Given the description of an element on the screen output the (x, y) to click on. 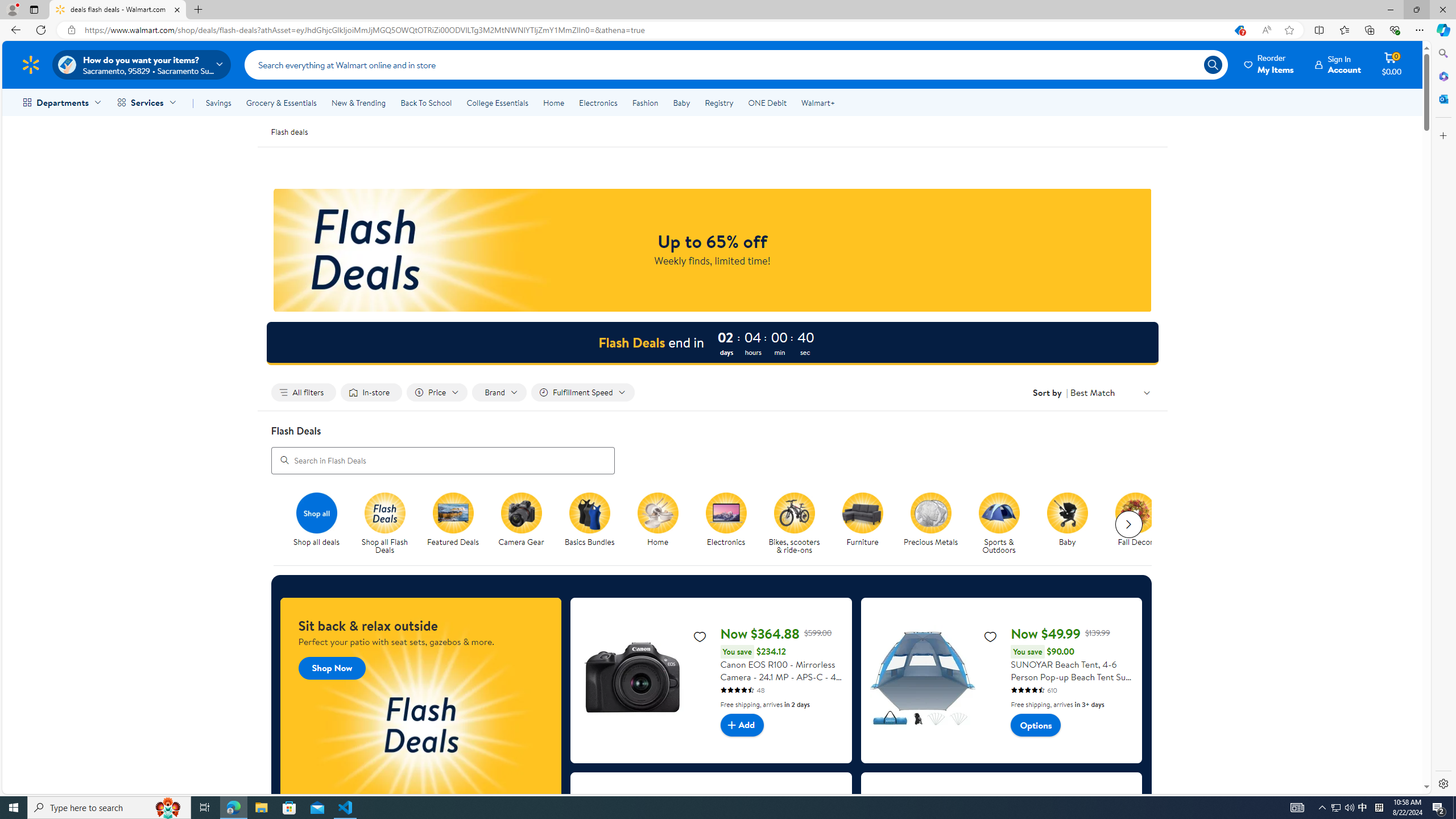
Cart contains 0 items Total Amount $0.00 (1391, 64)
